Given the description of an element on the screen output the (x, y) to click on. 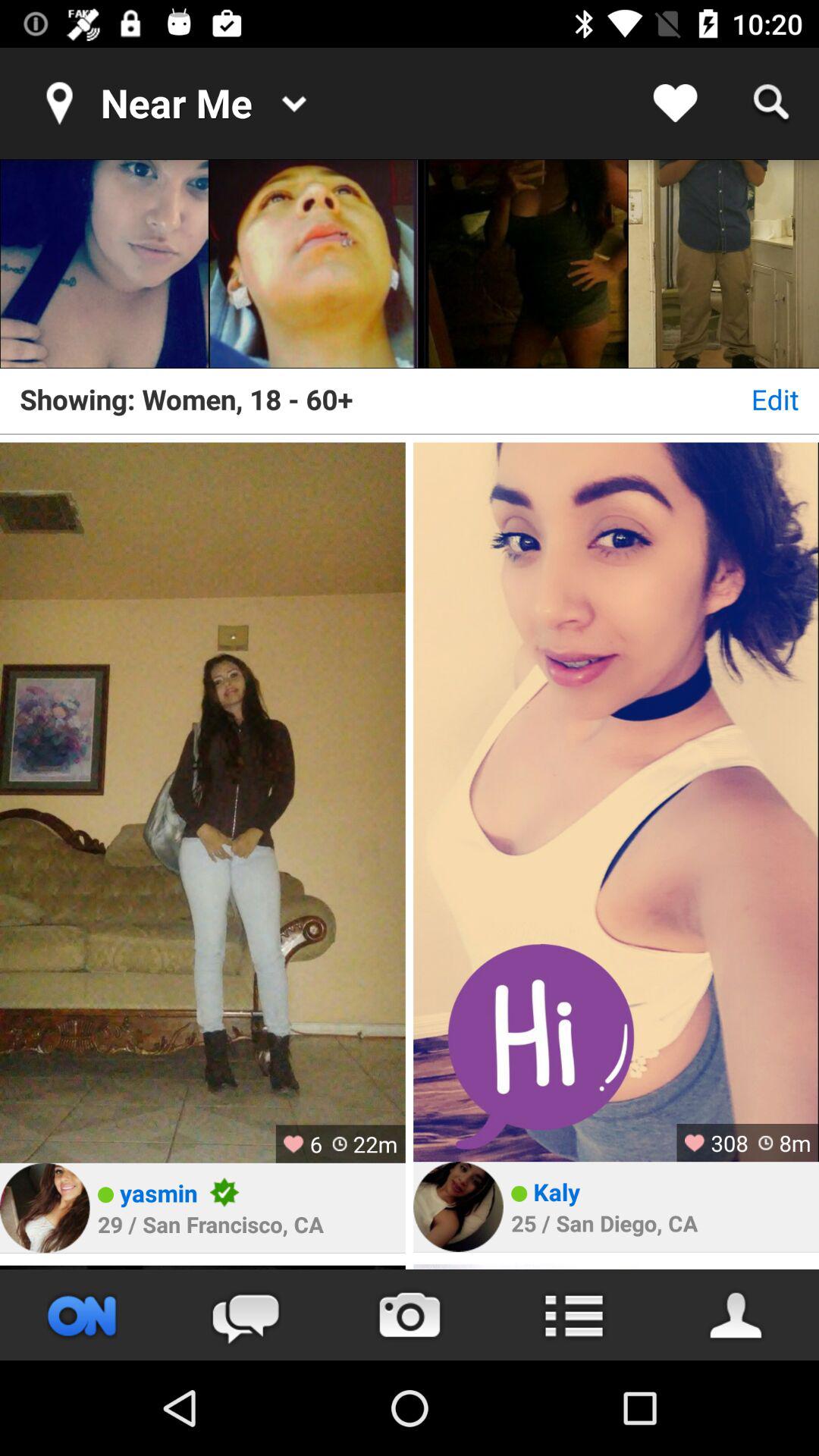
turn on the item above the showing women 18 icon (522, 263)
